Given the description of an element on the screen output the (x, y) to click on. 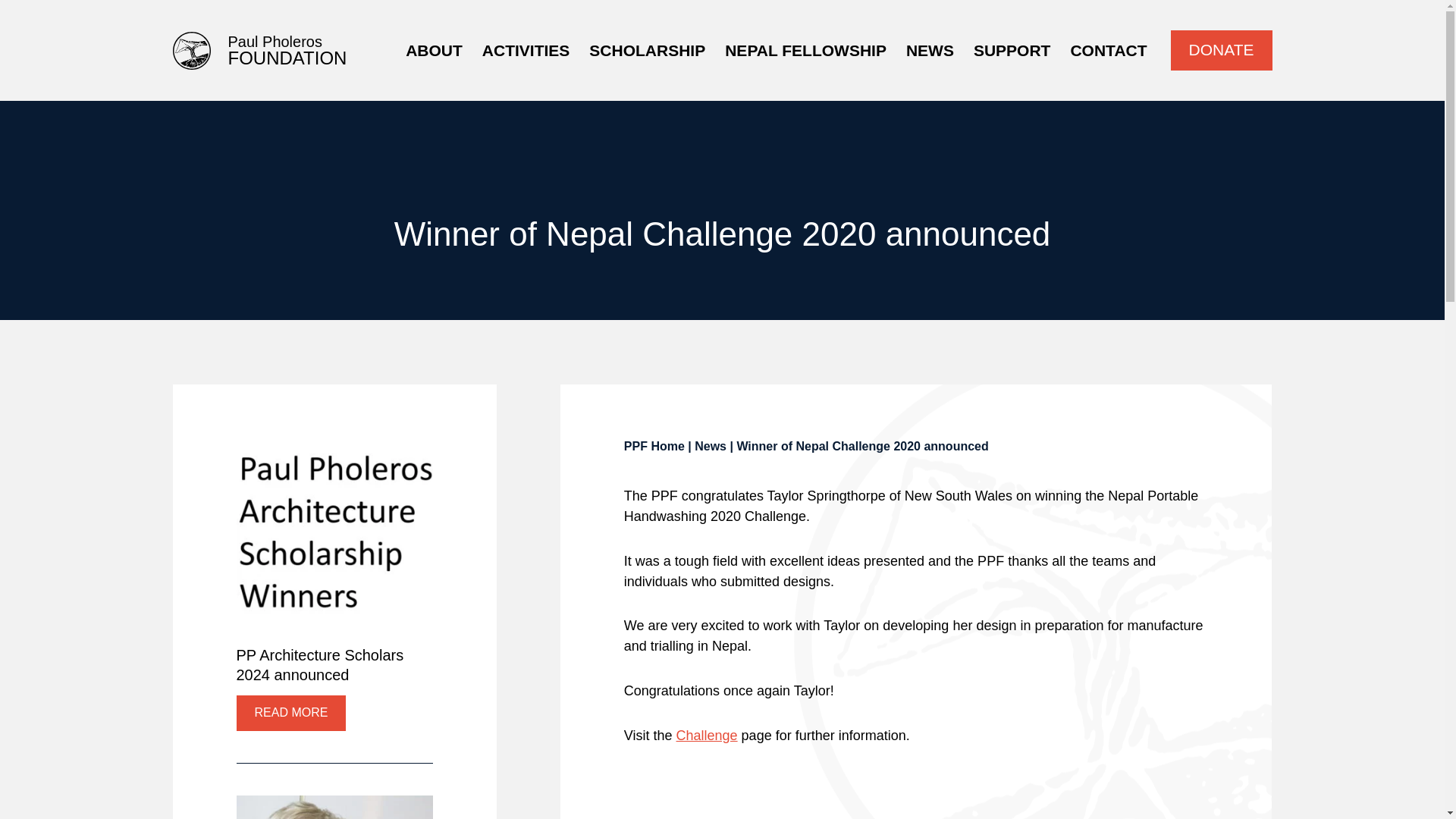
ABOUT (434, 50)
SUPPORT (1012, 50)
NEWS (929, 50)
CONTACT (1108, 50)
DONATE (1221, 50)
SCHOLARSHIP (646, 50)
Paul Pholeros Foundation (260, 50)
News (710, 445)
READ MORE (260, 50)
NEPAL FELLOWSHIP (290, 713)
ACTIVITIES (805, 50)
Challenge (525, 50)
PPF Home (707, 735)
